Given the description of an element on the screen output the (x, y) to click on. 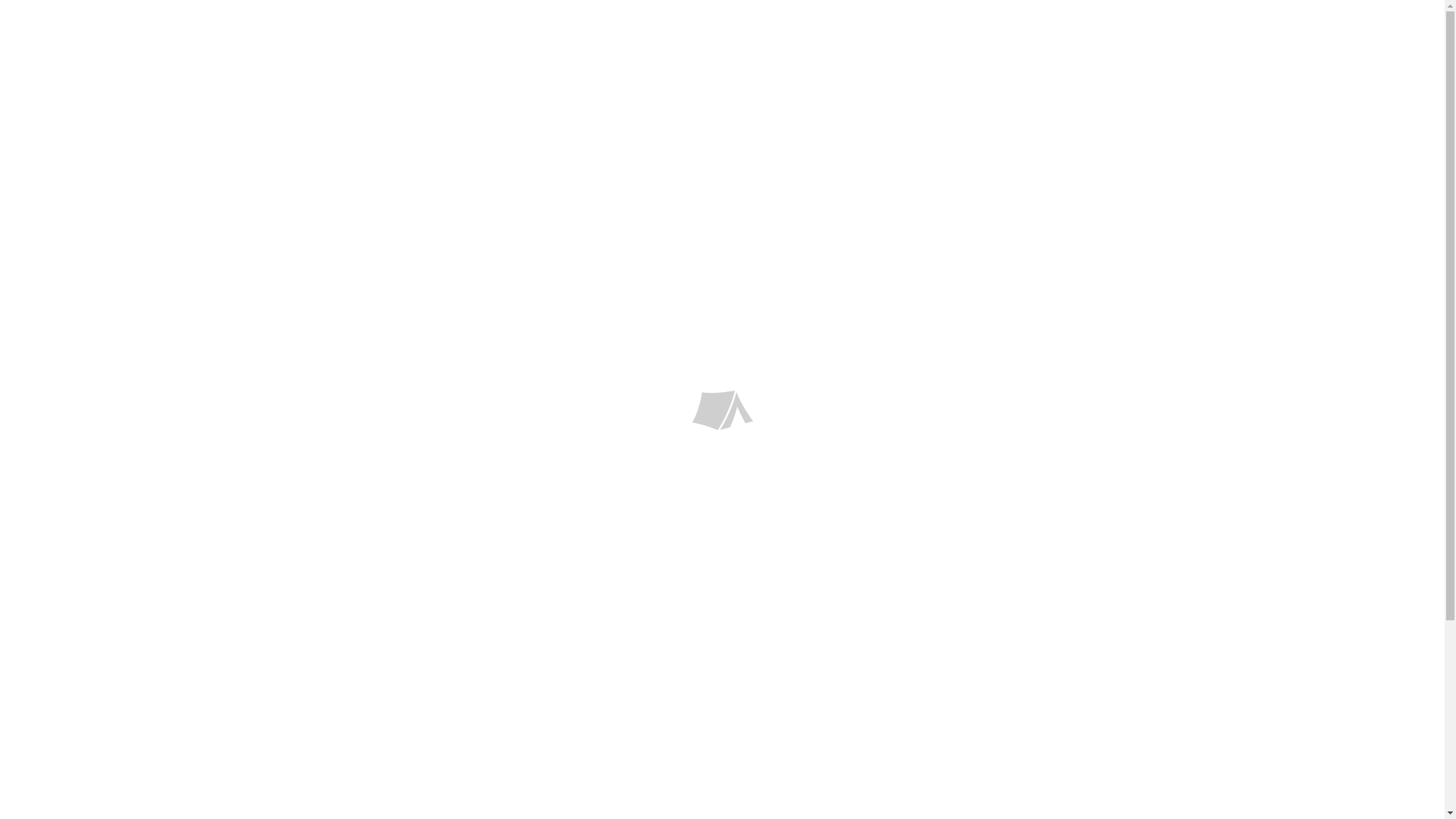
Sign up now Element type: text (1057, 512)
camps Element type: text (929, 61)
about Element type: text (997, 61)
See all camps Element type: text (380, 512)
contact Element type: text (1068, 61)
home Element type: text (862, 61)
